Given the description of an element on the screen output the (x, y) to click on. 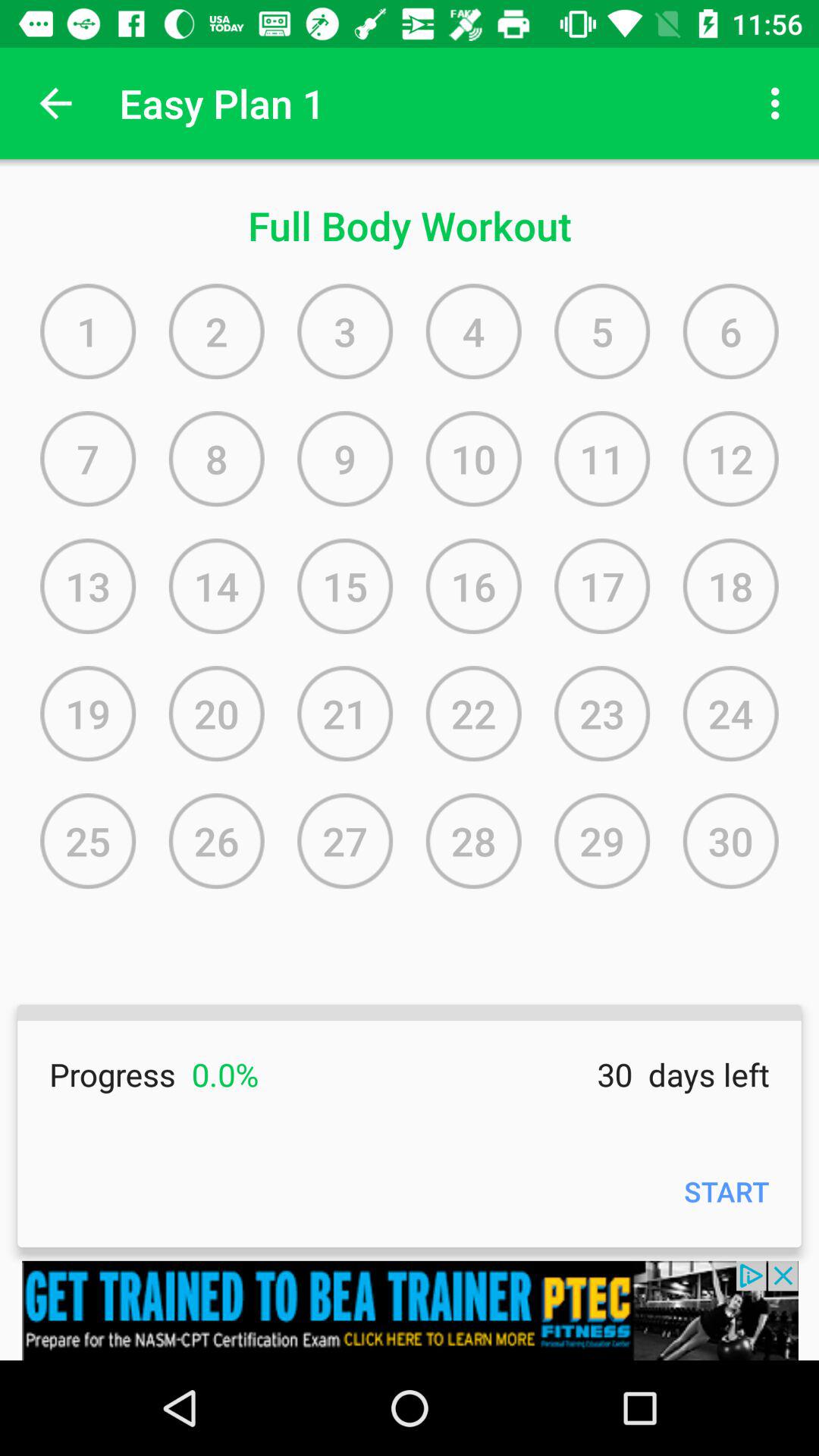
toggle the advertisement option (409, 1310)
